Given the description of an element on the screen output the (x, y) to click on. 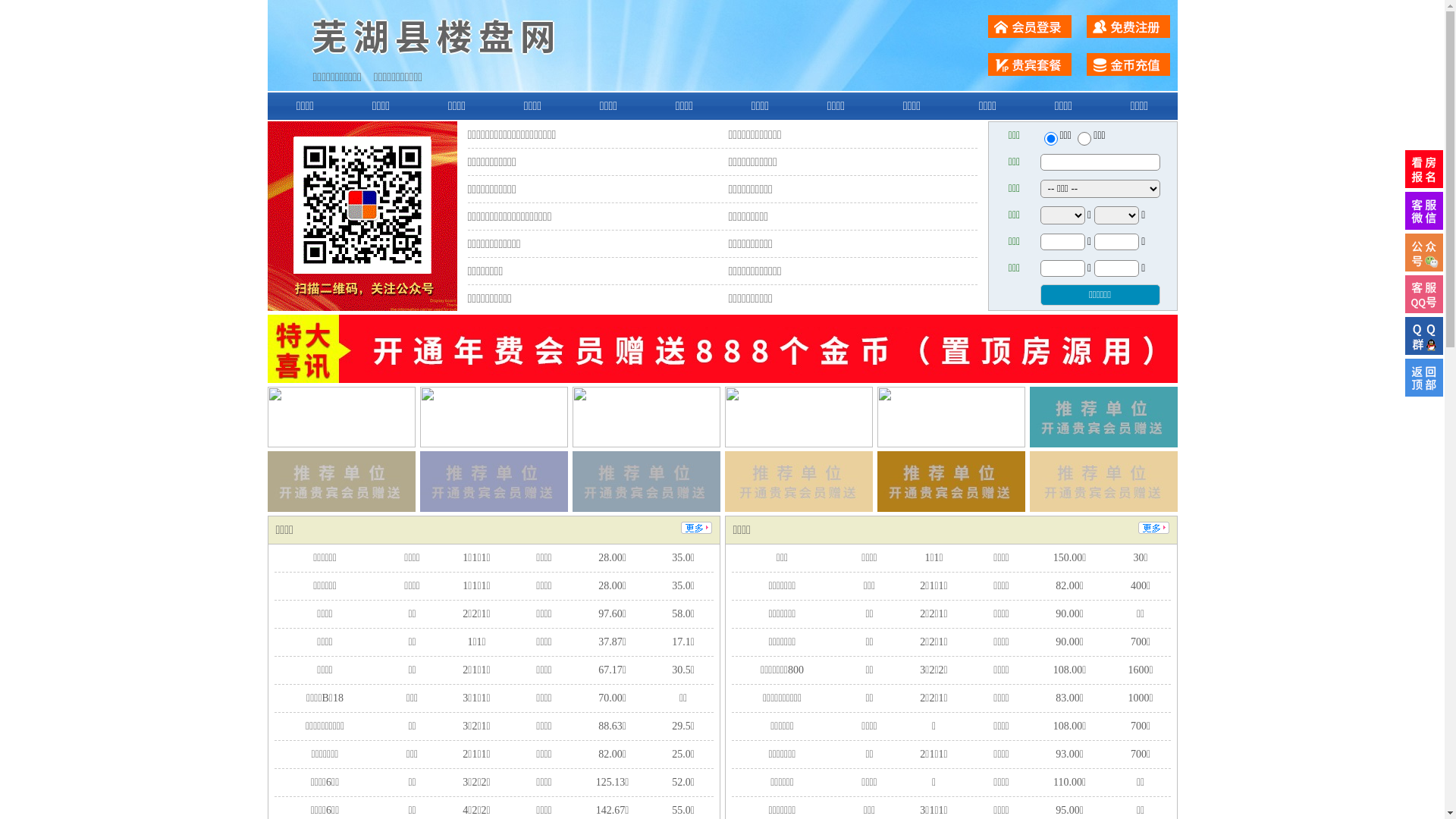
chuzu Element type: text (1084, 138)
ershou Element type: text (1050, 138)
